Given the description of an element on the screen output the (x, y) to click on. 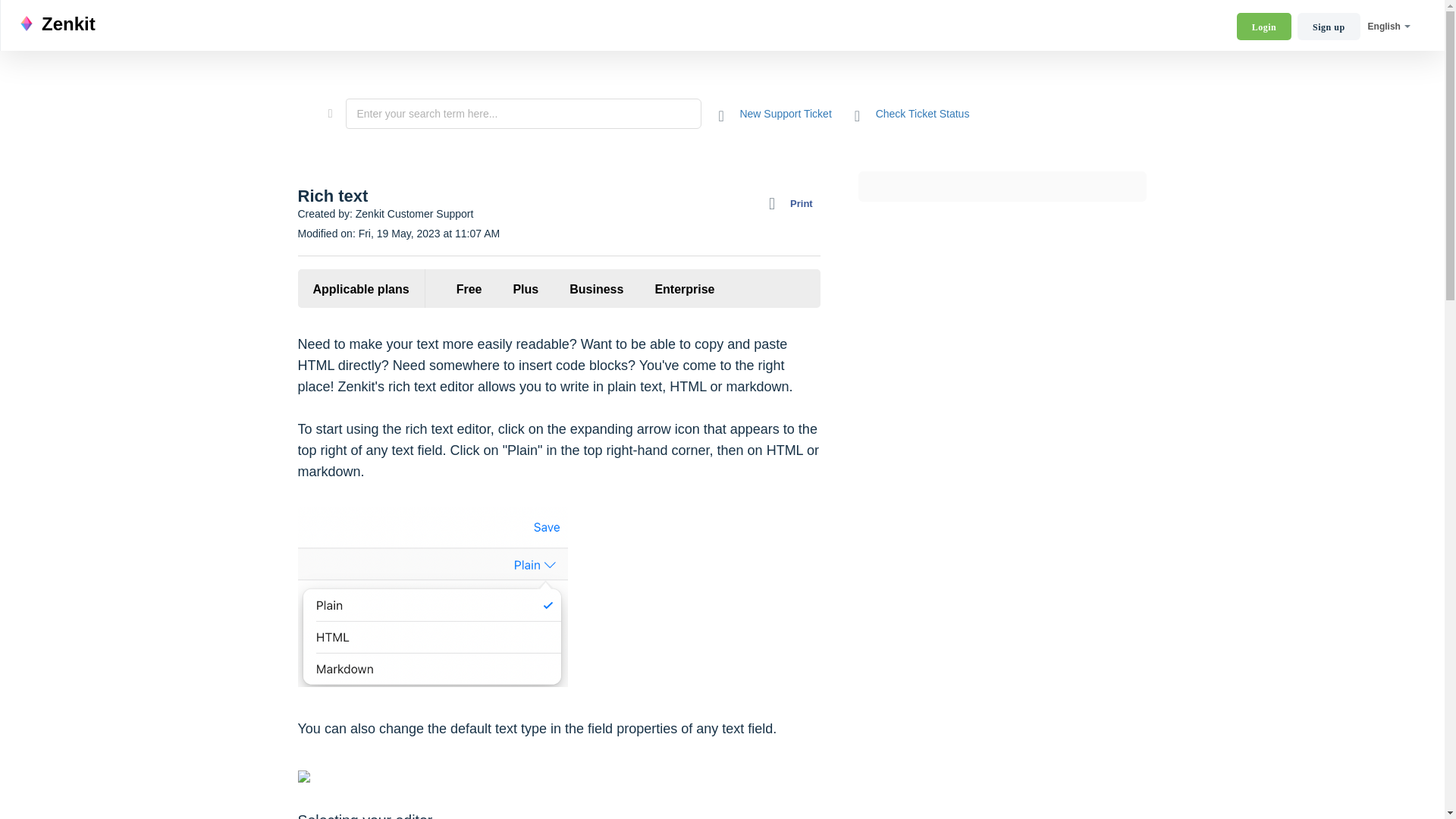
Sign up (1328, 26)
Check Ticket Status (911, 112)
Login (1264, 26)
Check ticket status (911, 112)
New support ticket (775, 112)
New Support Ticket (775, 112)
Print (794, 203)
Print this Article (794, 203)
